Given the description of an element on the screen output the (x, y) to click on. 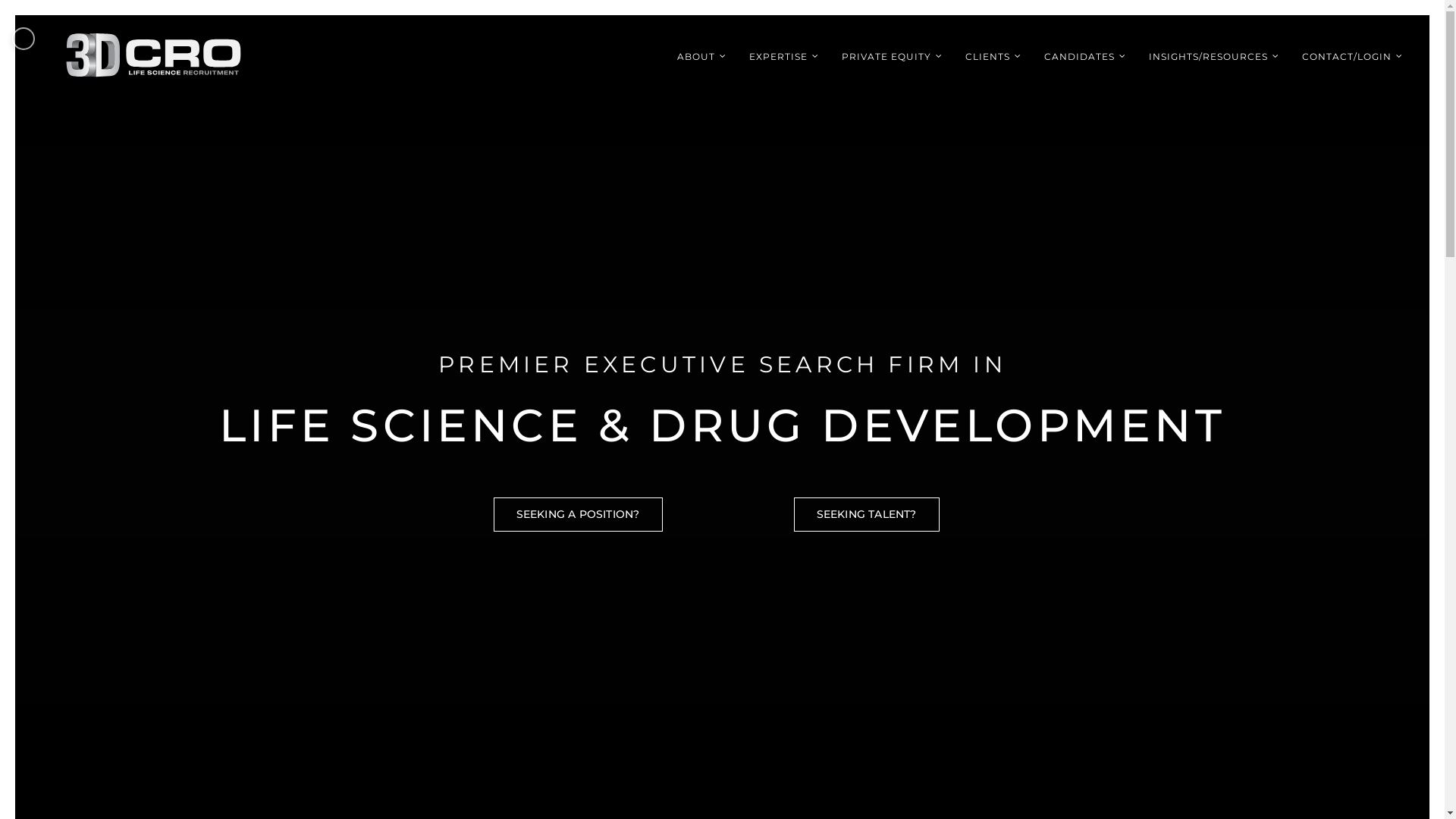
EXPERTISE Element type: text (783, 55)
CLIENTS Element type: text (992, 55)
CANDIDATES Element type: text (1084, 55)
INSIGHTS/RESOURCES Element type: text (1213, 55)
PRIVATE EQUITY Element type: text (891, 55)
CONTACT/LOGIN Element type: text (1352, 55)
SEEKING A POSITION? Element type: text (577, 514)
ABOUT Element type: text (701, 55)
SEEKING TALENT? Element type: text (865, 514)
